Given the description of an element on the screen output the (x, y) to click on. 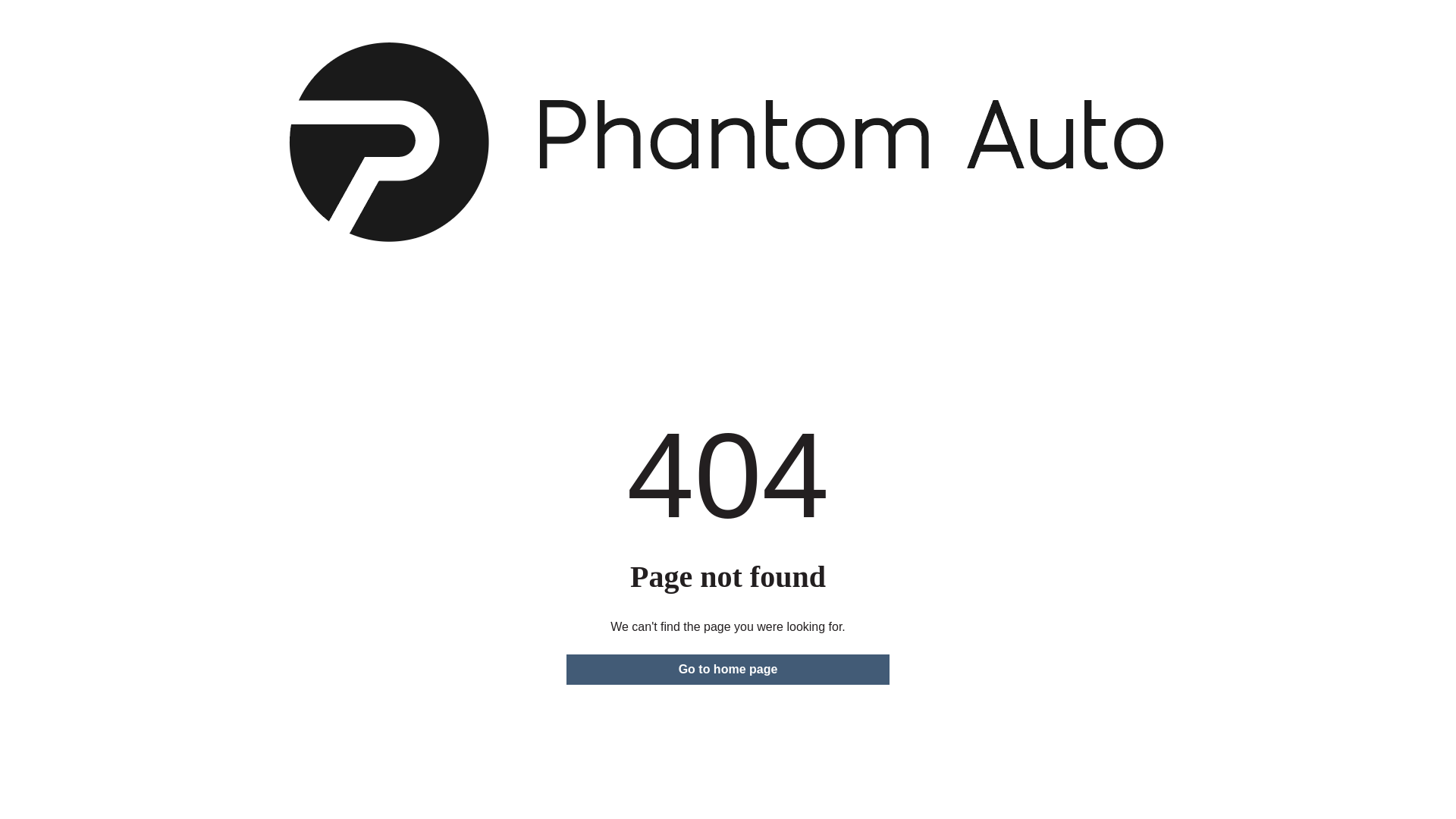
Go to home page Element type: text (727, 669)
